Given the description of an element on the screen output the (x, y) to click on. 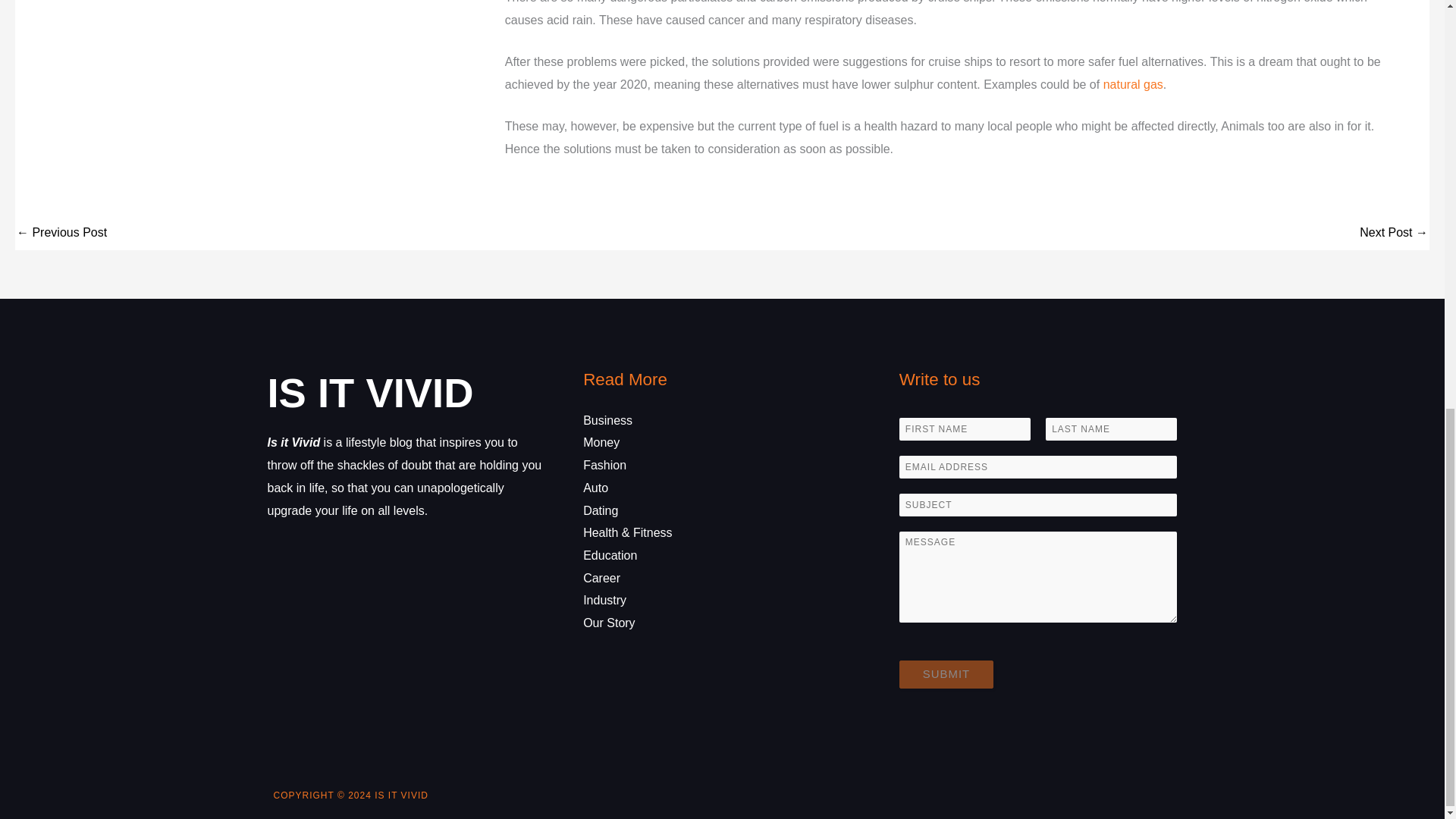
Dating (600, 510)
Our Story (608, 622)
Education (610, 554)
natural gas (1133, 83)
Money (601, 441)
SUBMIT (945, 674)
Business (607, 420)
Auto (595, 487)
Industry (604, 599)
Career (601, 577)
Best 2 VR Games on PC (61, 234)
How to choose tracks that will uplift your soul (1393, 234)
Fashion (604, 464)
